Given the description of an element on the screen output the (x, y) to click on. 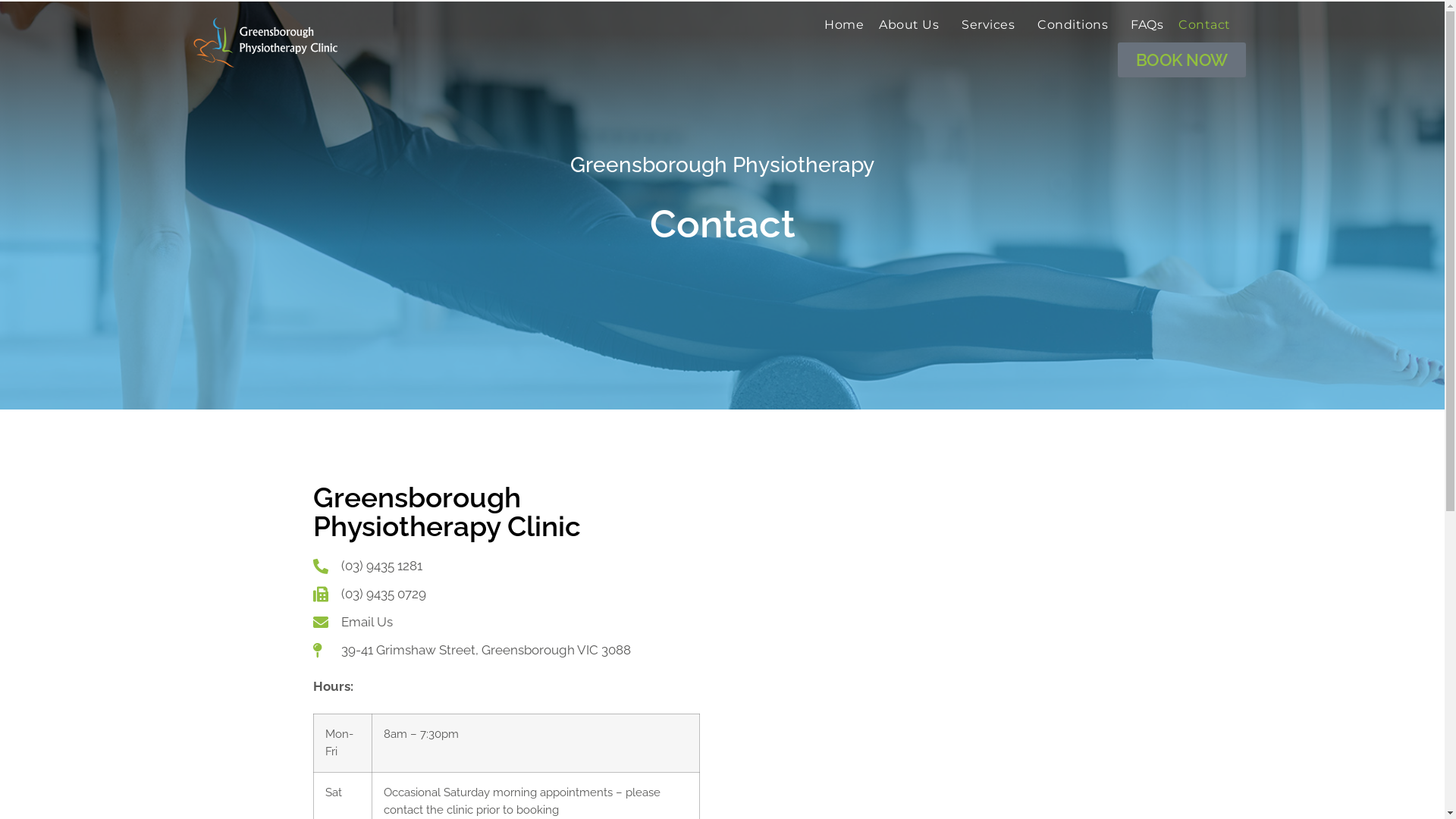
Email Us Element type: text (505, 621)
Contact Element type: text (1204, 24)
Conditions Element type: text (1076, 24)
FAQs Element type: text (1146, 24)
BOOK NOW Element type: text (1181, 59)
About Us Element type: text (912, 24)
(03) 9435 1281 Element type: text (505, 565)
Services Element type: text (991, 24)
(03) 9435 0729 Element type: text (505, 593)
39-41 Grimshaw Street, Greensborough VIC 3088 Element type: text (505, 650)
Home Element type: text (843, 24)
